Given the description of an element on the screen output the (x, y) to click on. 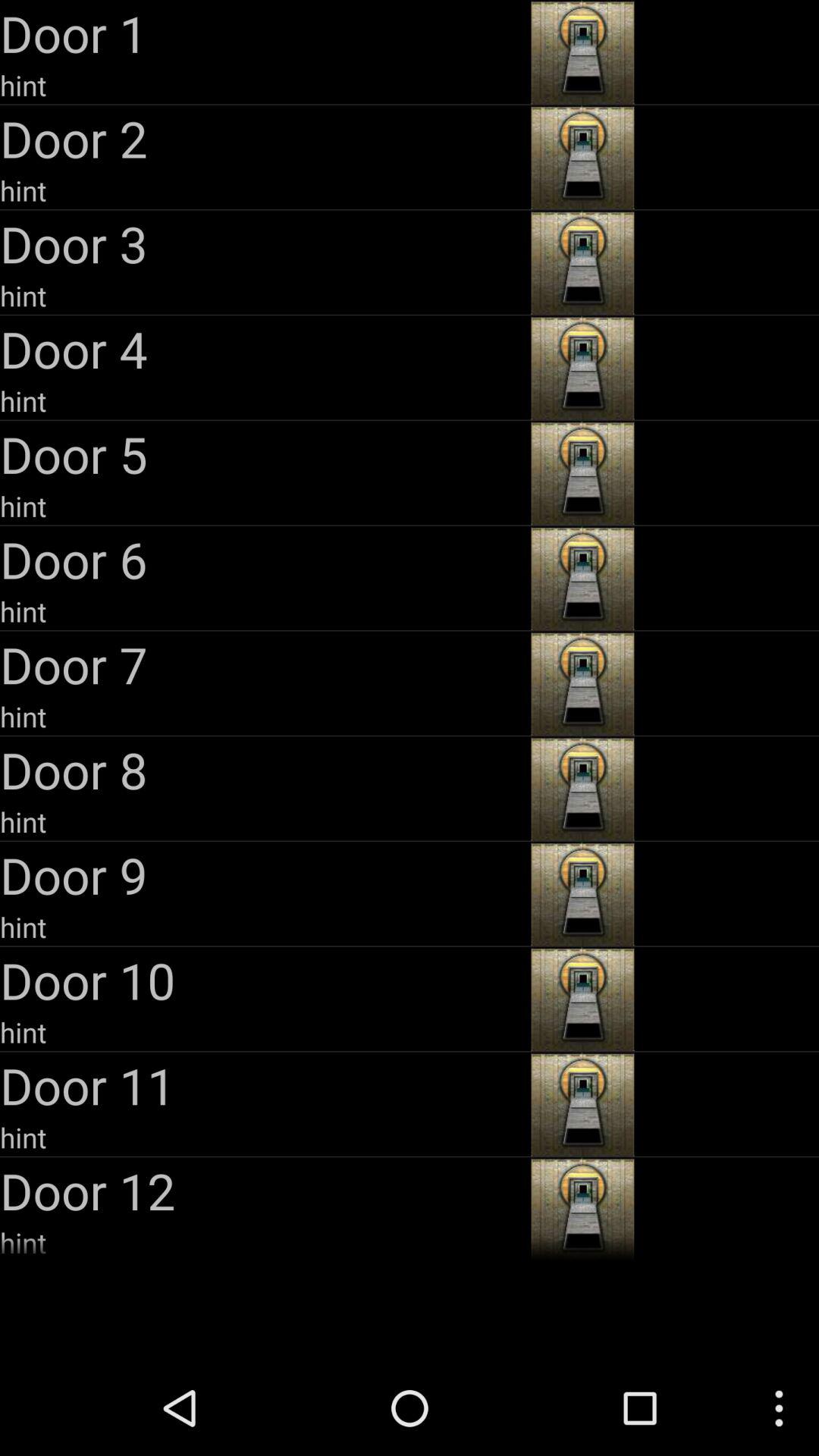
click icon above hint item (263, 1085)
